Given the description of an element on the screen output the (x, y) to click on. 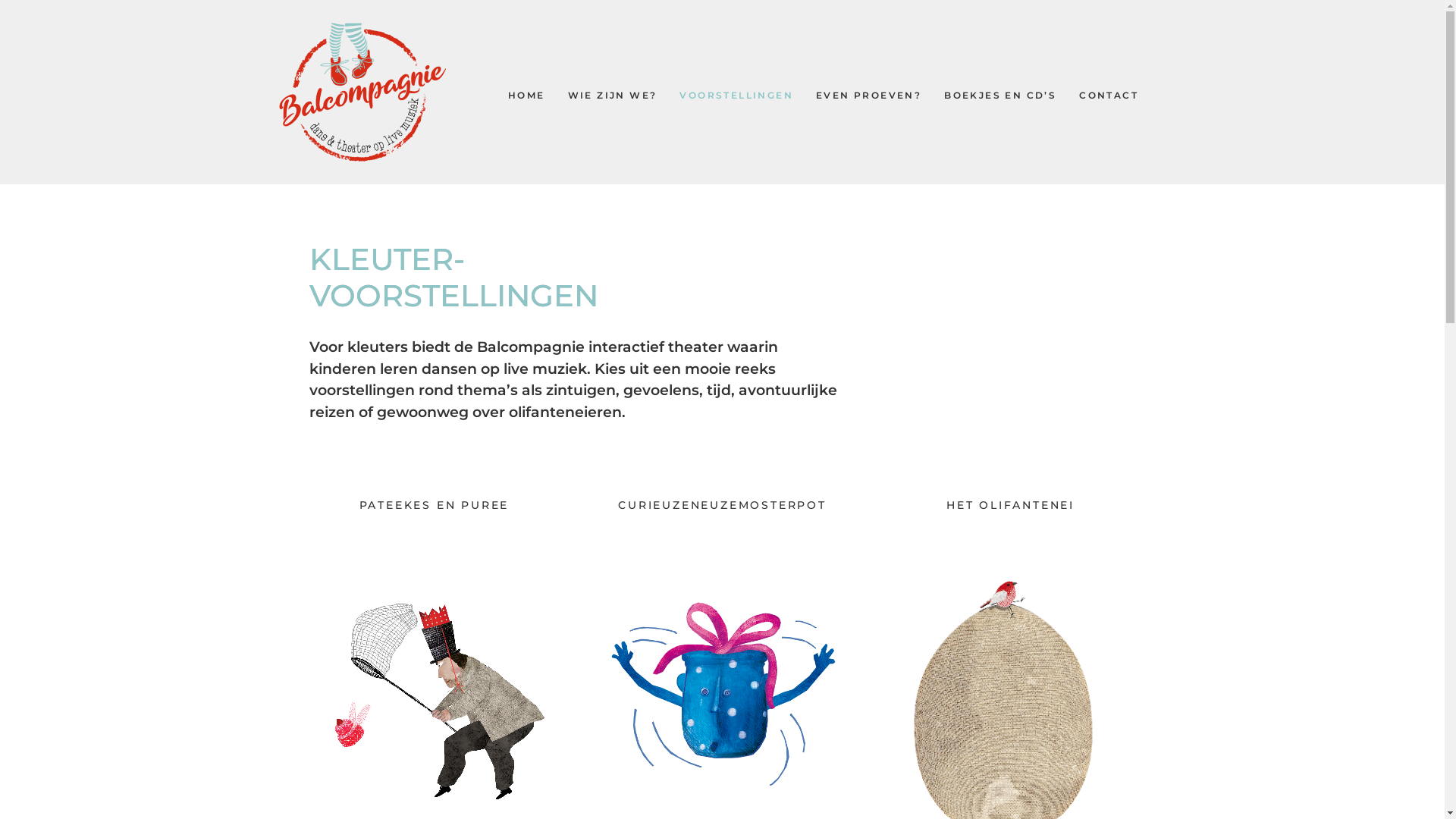
CONTACT Element type: text (1108, 95)
VOORSTELLINGEN Element type: text (736, 95)
HOME Element type: text (526, 95)
EVEN PROEVEN? Element type: text (868, 95)
WIE ZIJN WE? Element type: text (612, 95)
